Given the description of an element on the screen output the (x, y) to click on. 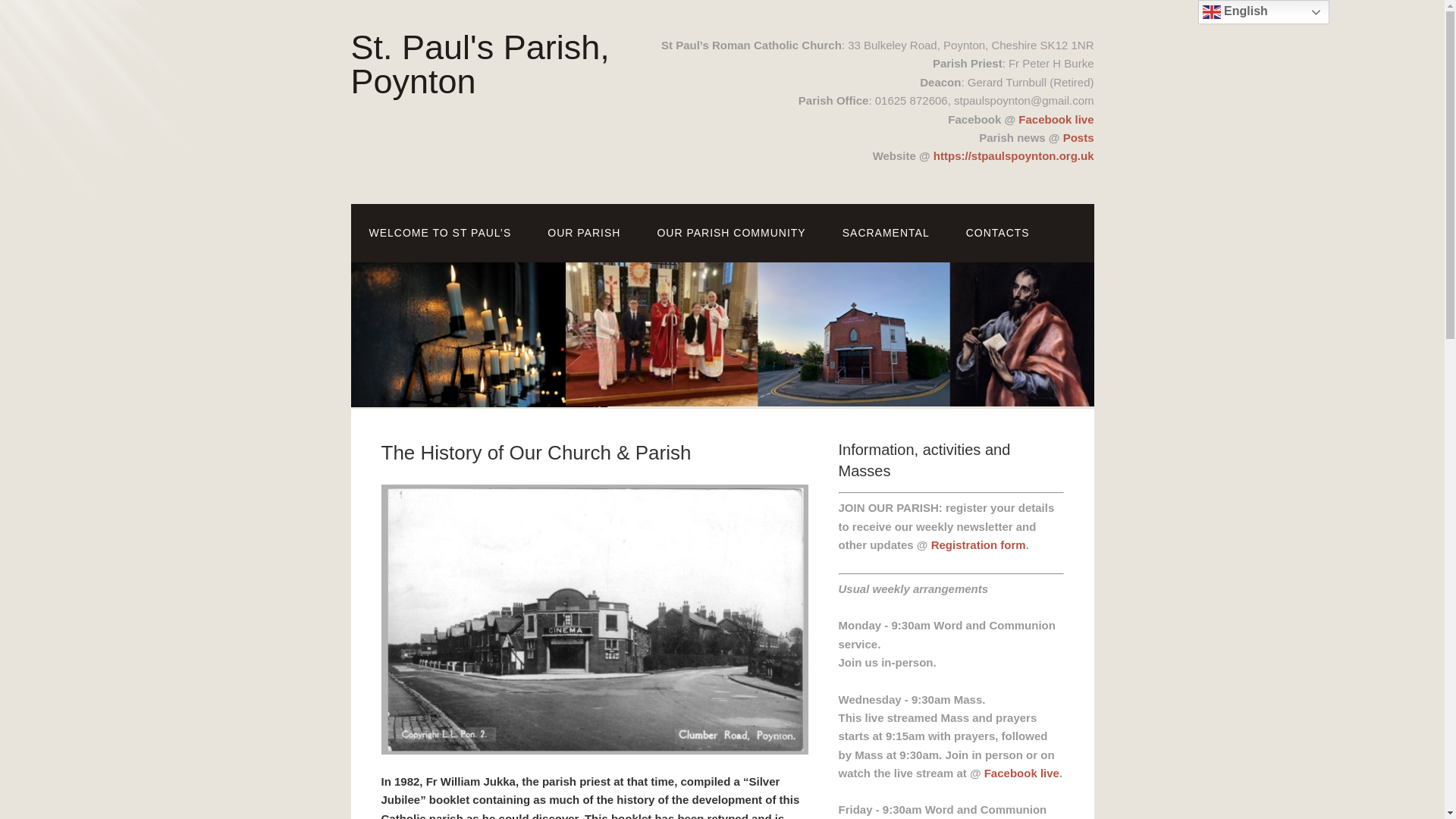
St. Paul's Parish, Poynton (479, 63)
OUR PARISH (584, 232)
Posts (1078, 137)
St. Paul's Parish, Poynton (479, 63)
OUR PARISH COMMUNITY (731, 232)
Facebook live (1055, 118)
